Given the description of an element on the screen output the (x, y) to click on. 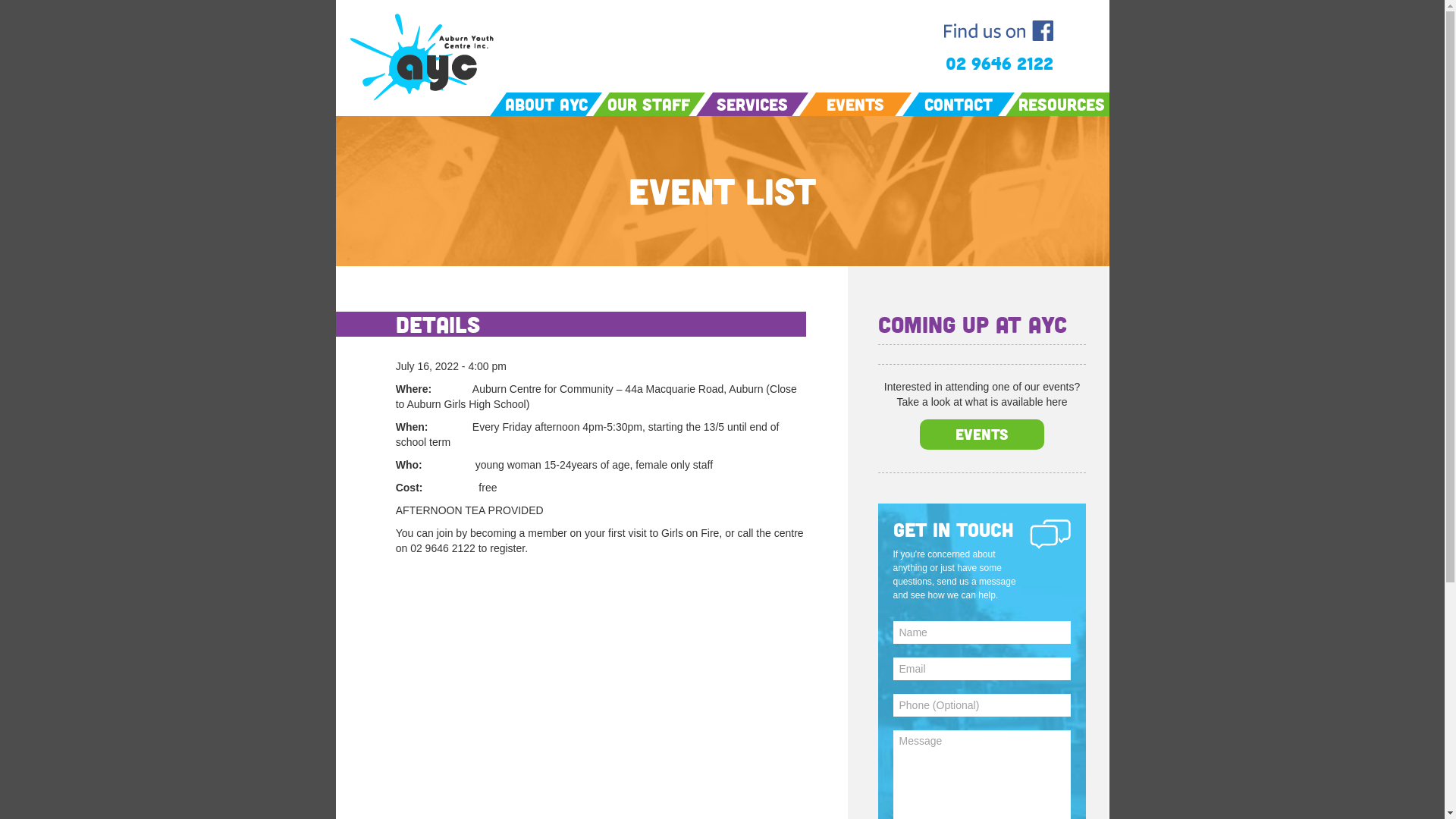
Events Element type: text (855, 104)
Contact Element type: text (958, 104)
Services Element type: text (752, 104)
Resources Element type: text (1060, 104)
Our Staff Element type: text (648, 104)
About AYC Element type: text (545, 104)
Events Element type: text (981, 433)
